Given the description of an element on the screen output the (x, y) to click on. 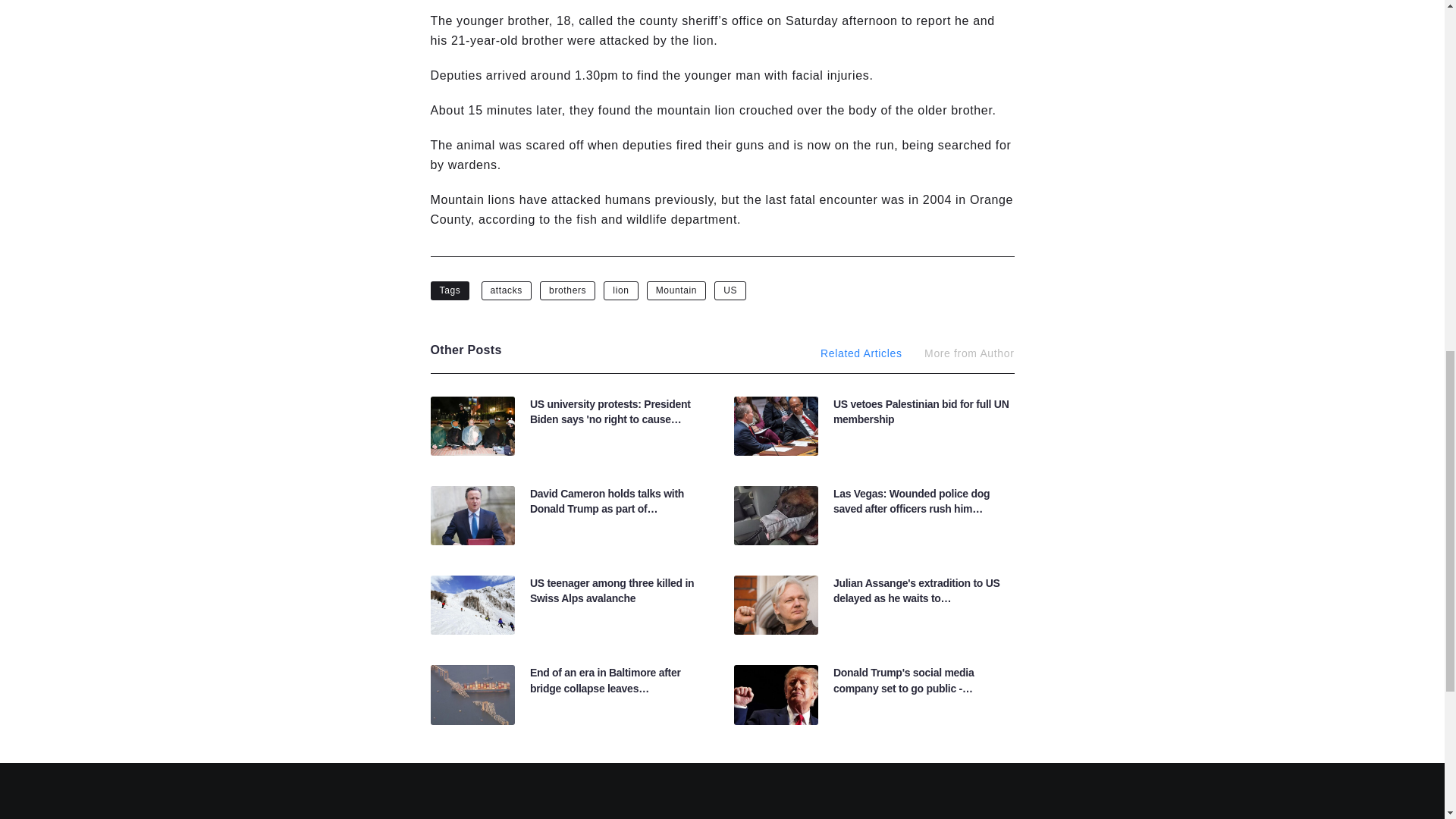
US (729, 289)
brothers (567, 289)
lion (620, 289)
US teenager among three killed in Swiss Alps avalanche (611, 590)
US vetoes Palestinian bid for full UN membership (920, 411)
US vetoes Palestinian bid for full UN membership (920, 411)
Mountain (676, 289)
attacks (506, 289)
US teenager among three killed in Swiss Alps avalanche (611, 590)
